Given the description of an element on the screen output the (x, y) to click on. 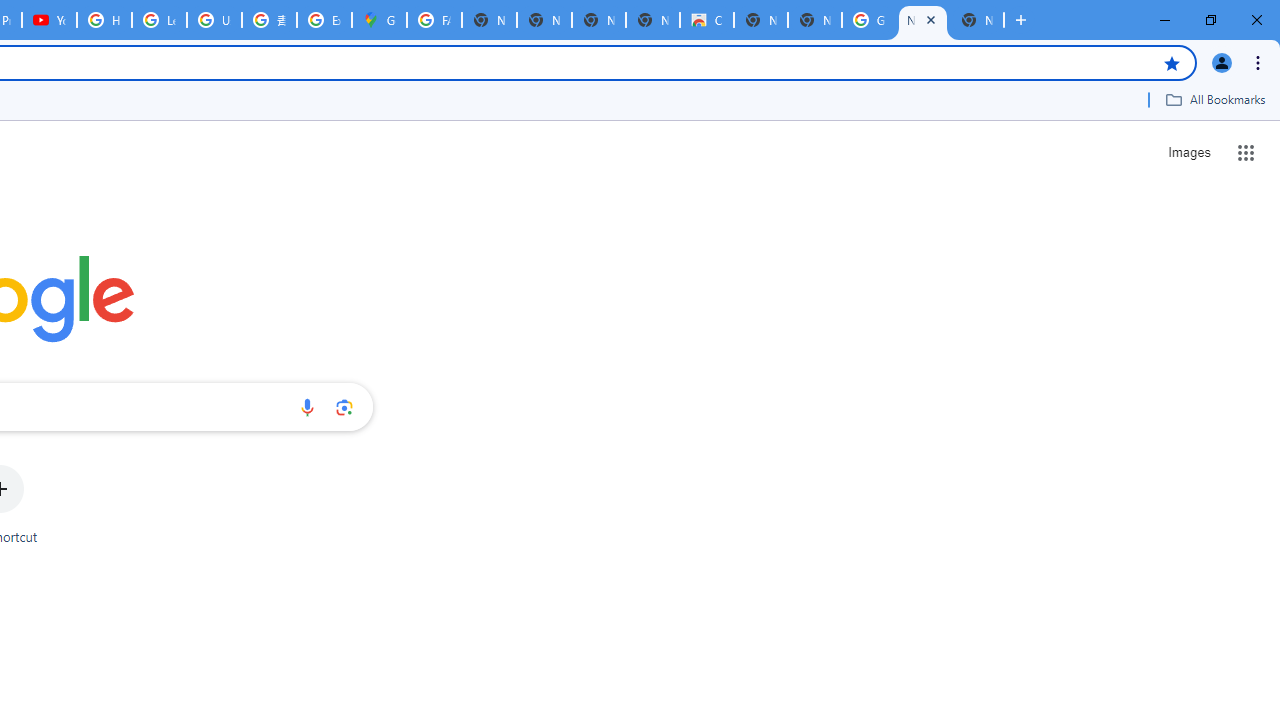
New Tab (976, 20)
Chrome Web Store (706, 20)
New Tab (815, 20)
Explore new street-level details - Google Maps Help (324, 20)
How Chrome protects your passwords - Google Chrome Help (103, 20)
